Given the description of an element on the screen output the (x, y) to click on. 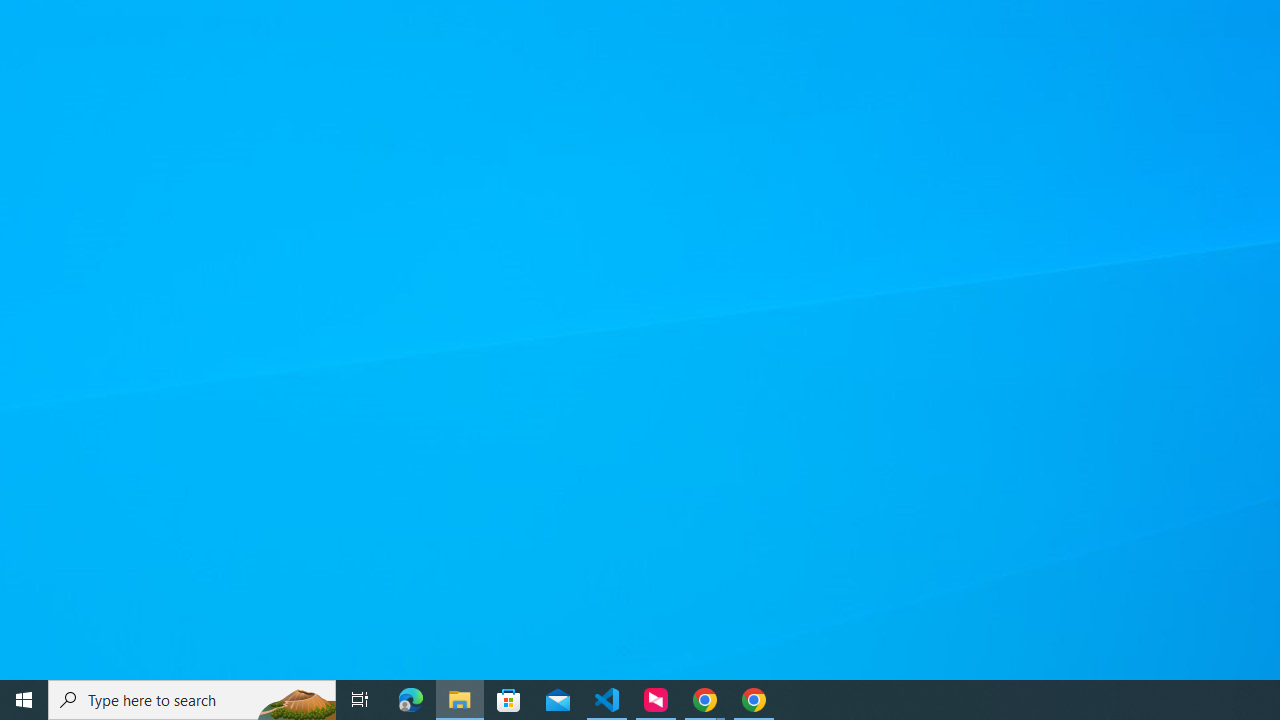
Google Chrome - 1 running window (754, 699)
Search highlights icon opens search home window (295, 699)
Microsoft Edge (411, 699)
Microsoft Store (509, 699)
Type here to search (191, 699)
Task View (359, 699)
Start (24, 699)
Visual Studio Code - 1 running window (607, 699)
File Explorer - 1 running window (460, 699)
Google Chrome - 3 running windows (704, 699)
